Given the description of an element on the screen output the (x, y) to click on. 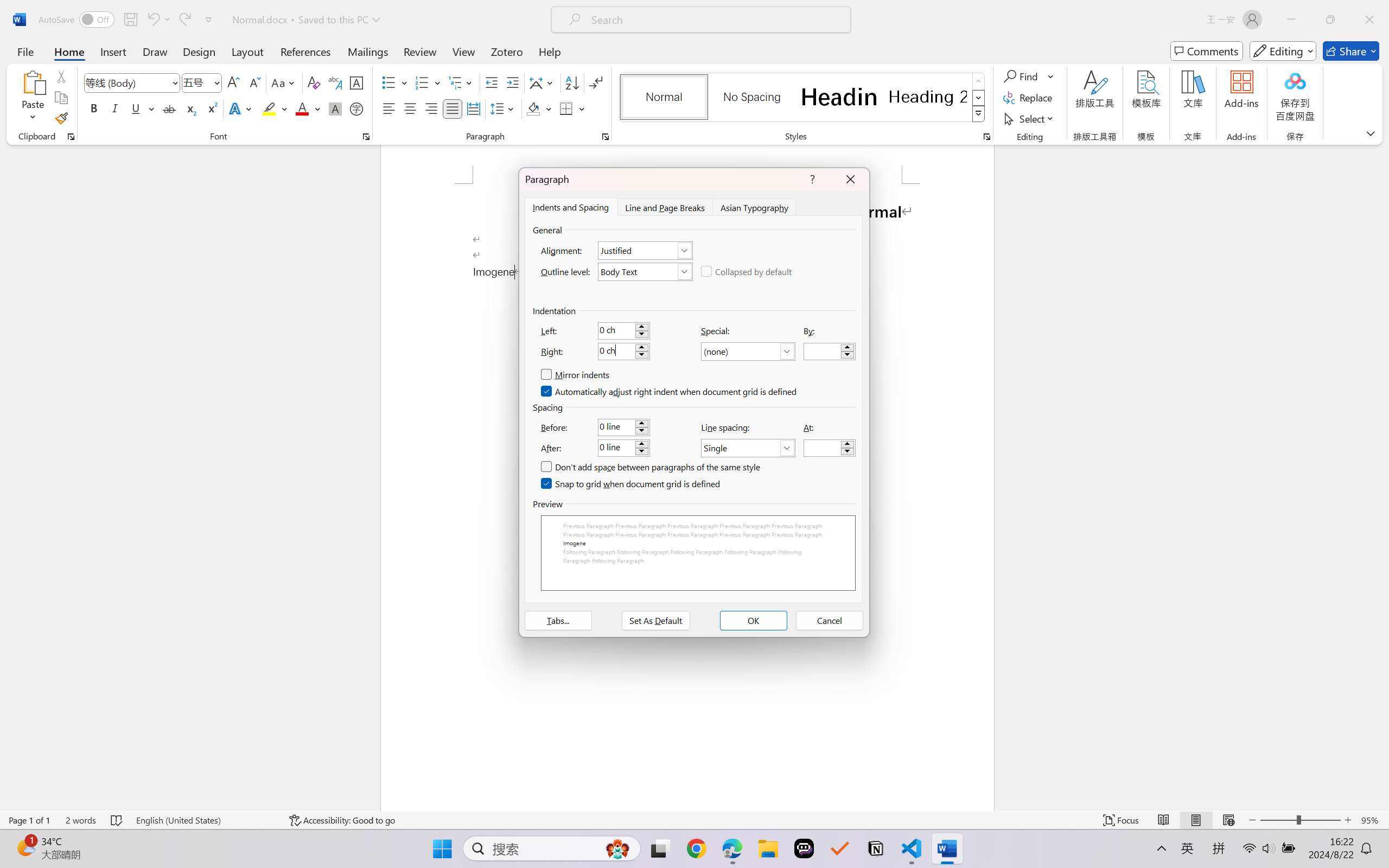
Character Border (356, 82)
Mode (1283, 50)
Before: (623, 426)
Text Effects and Typography (241, 108)
Google Chrome (696, 848)
Select (1030, 118)
RichEdit Control (822, 447)
Font Color (308, 108)
Undo Typing (152, 19)
Shrink Font (253, 82)
Heading 2 (927, 96)
